Given the description of an element on the screen output the (x, y) to click on. 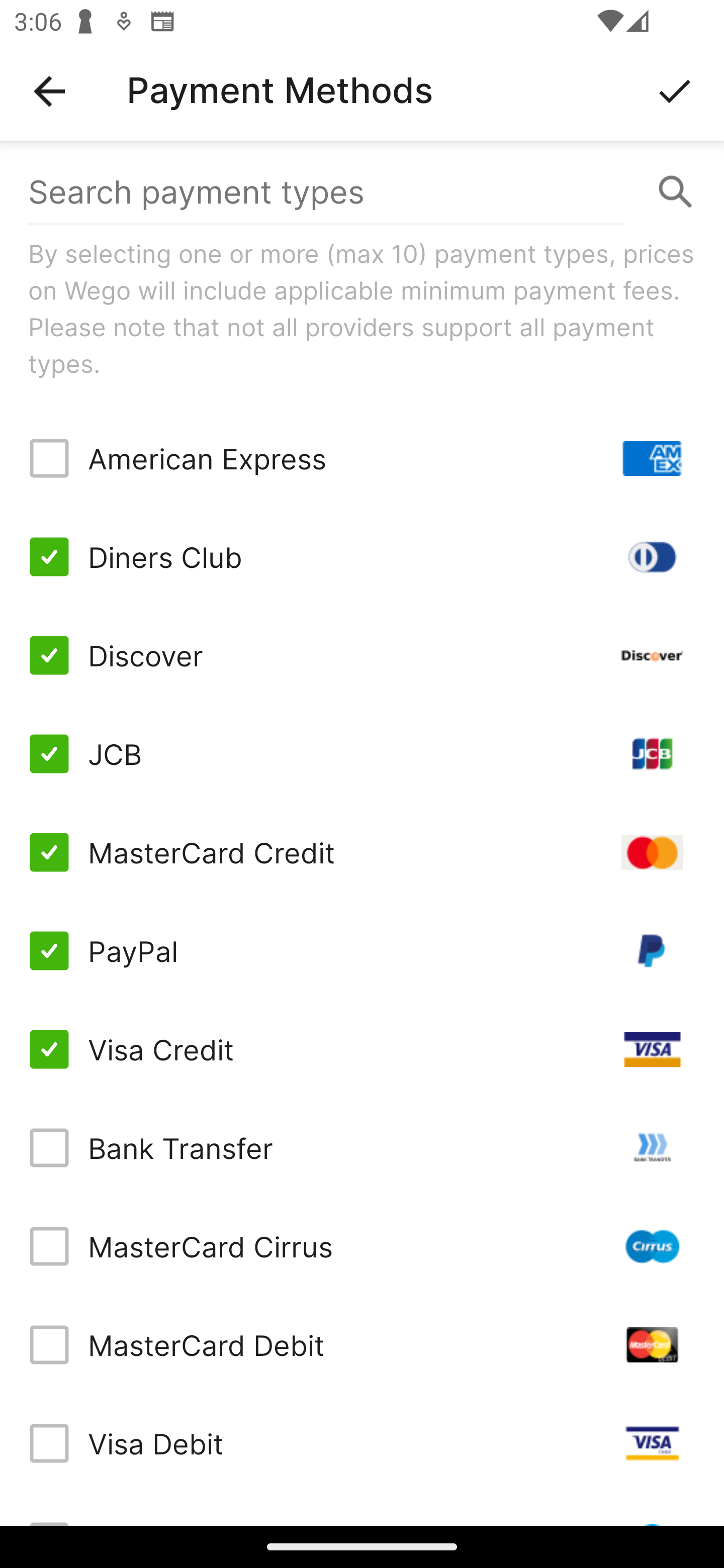
Search payment types  (361, 191)
American Express (362, 458)
Diners Club (362, 557)
Discover (362, 655)
JCB (362, 753)
MasterCard Credit (362, 851)
PayPal (362, 950)
Visa Credit (362, 1049)
Bank Transfer (362, 1147)
MasterCard Cirrus (362, 1245)
MasterCard Debit (362, 1344)
Visa Debit (362, 1442)
